Given the description of an element on the screen output the (x, y) to click on. 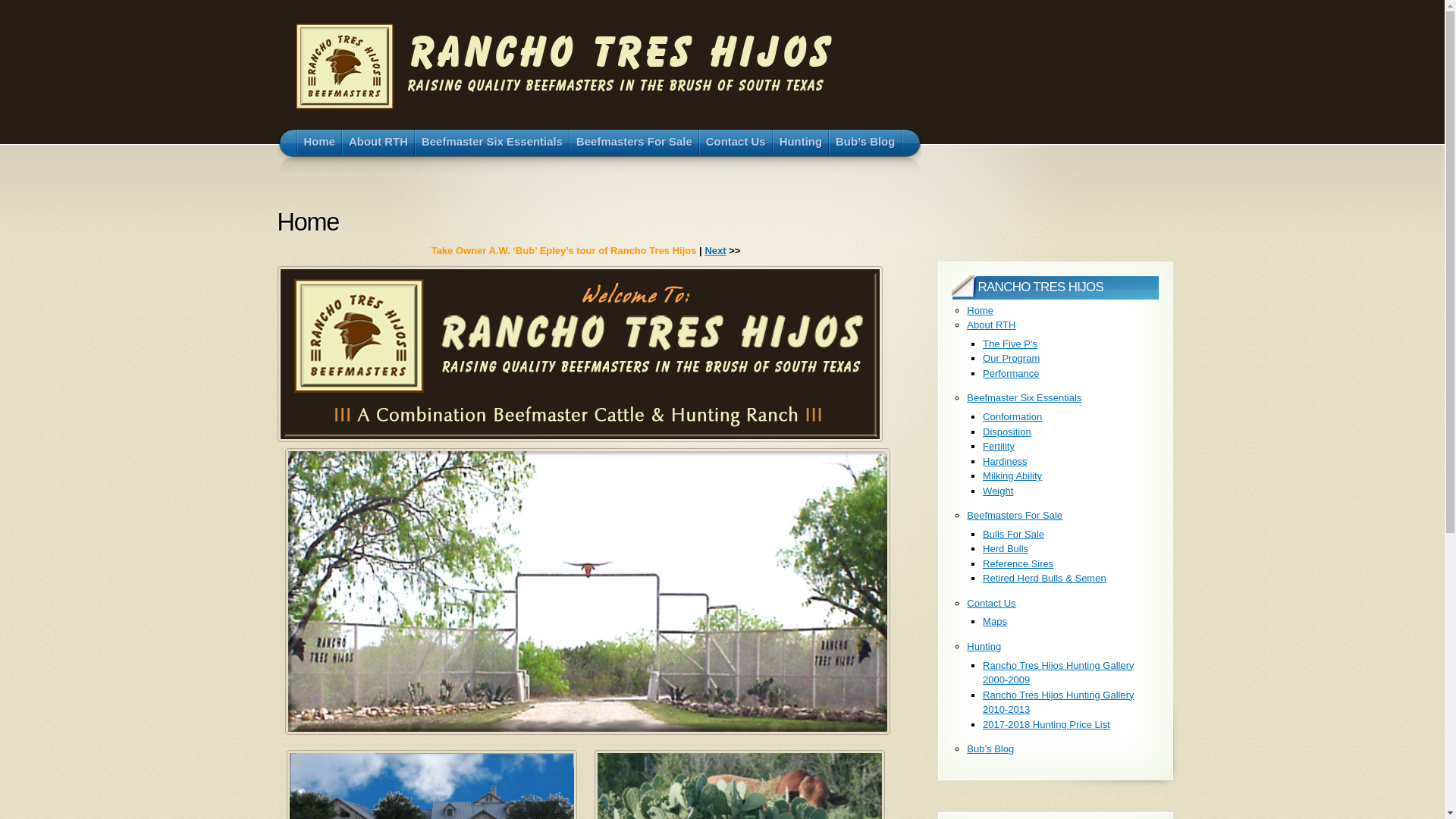
Beefmasters For Sale Element type: text (634, 142)
Hunting Element type: text (800, 142)
Home Element type: text (979, 310)
Conformation Element type: text (1011, 416)
Contact Us Element type: text (735, 142)
Beefmaster Six Essentials Element type: text (491, 142)
Beefmaster Six Essentials Element type: text (1023, 397)
Herd Bulls Element type: text (1005, 548)
Rancho Tres Hijos Element type: hover (586, 66)
Home Element type: text (319, 142)
Rancho Tres Hijos Hunting Gallery 2010-2013 Element type: text (1057, 702)
Hardiness Element type: text (1004, 461)
Our Program Element type: text (1010, 358)
2017-2018 Hunting Price List Element type: text (1046, 724)
Performance Element type: text (1010, 373)
Hunting Element type: text (983, 646)
Retired Herd Bulls & Semen Element type: text (1044, 577)
About RTH Element type: text (378, 142)
About RTH Element type: text (990, 324)
Next Element type: text (714, 250)
Disposition Element type: text (1006, 431)
Weight Element type: text (997, 490)
Maps Element type: text (994, 621)
Contact Us Element type: text (990, 602)
Beefmasters For Sale Element type: text (1014, 514)
Bulls For Sale Element type: text (1013, 533)
3hijosbeefmasterSubHead081013 Element type: hover (579, 354)
Fertility Element type: text (998, 445)
Milking Ability Element type: text (1011, 475)
Rancho Tres Hijos Hunting Gallery 2000-2009 Element type: text (1057, 672)
Reference Sires Element type: text (1017, 563)
